Given the description of an element on the screen output the (x, y) to click on. 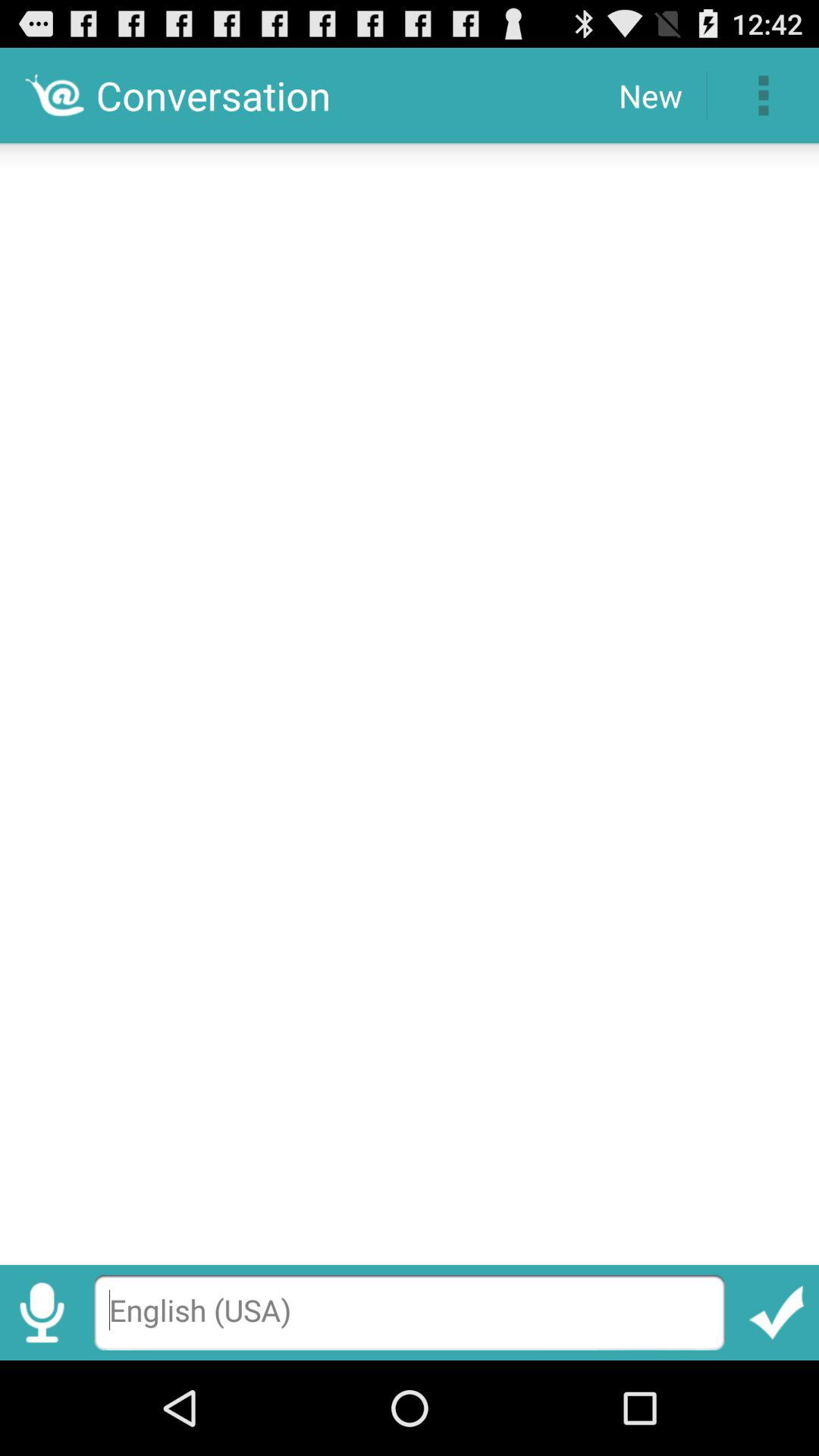
turn on mic (42, 1312)
